Given the description of an element on the screen output the (x, y) to click on. 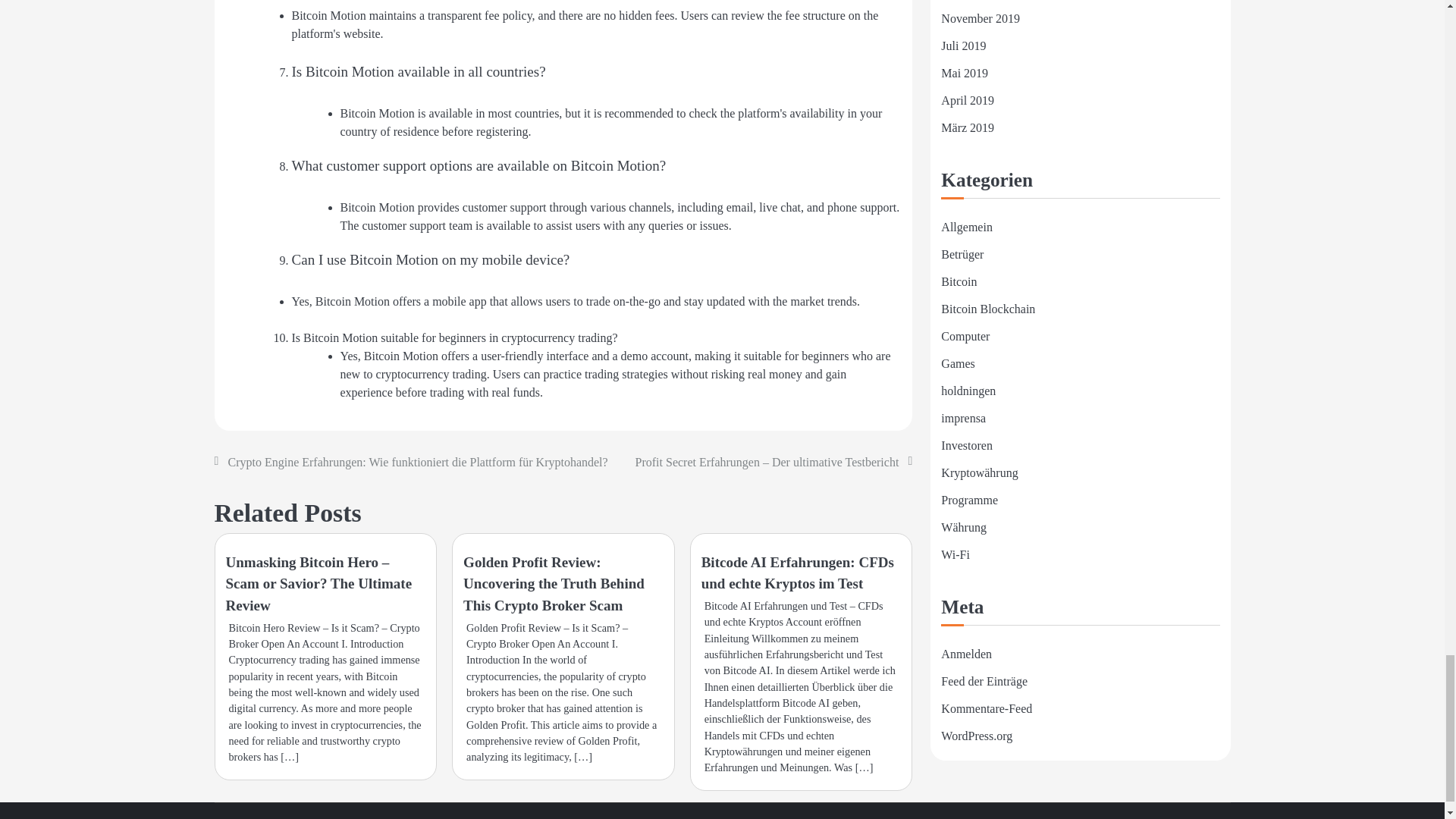
Bitcode AI Erfahrungen: CFDs und echte Kryptos im Test (797, 573)
